Given the description of an element on the screen output the (x, y) to click on. 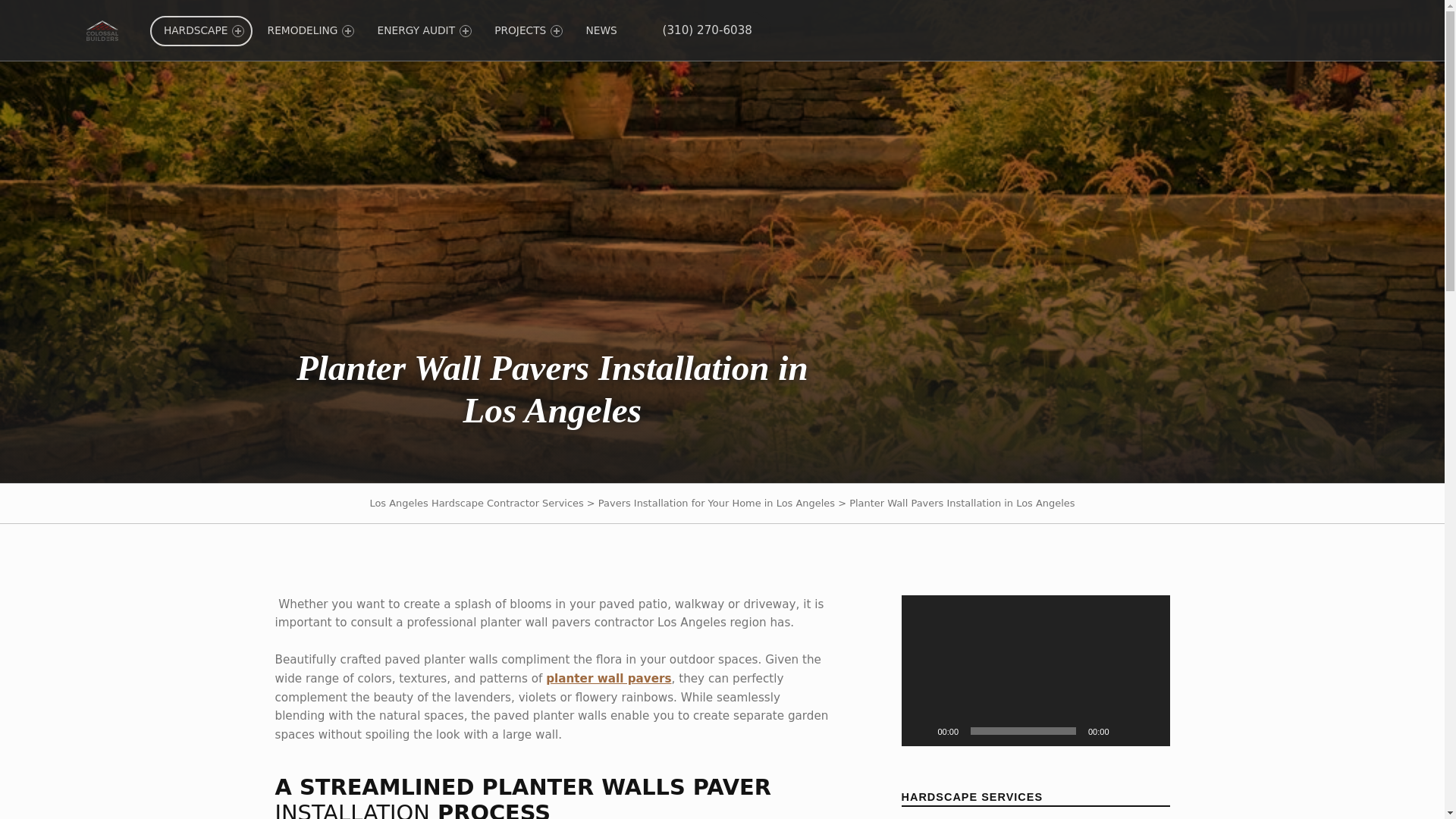
Go to Los Angeles Hardscape Contractor Services. (476, 502)
PROJECTS (525, 30)
Play (920, 730)
ENERGY AUDIT (422, 30)
Go to Pavers Installation for Your Home in Los Angeles. (716, 502)
Mute (1125, 730)
REMODELING (307, 30)
HARDSCAPE (200, 30)
Fullscreen (1149, 730)
